Given the description of an element on the screen output the (x, y) to click on. 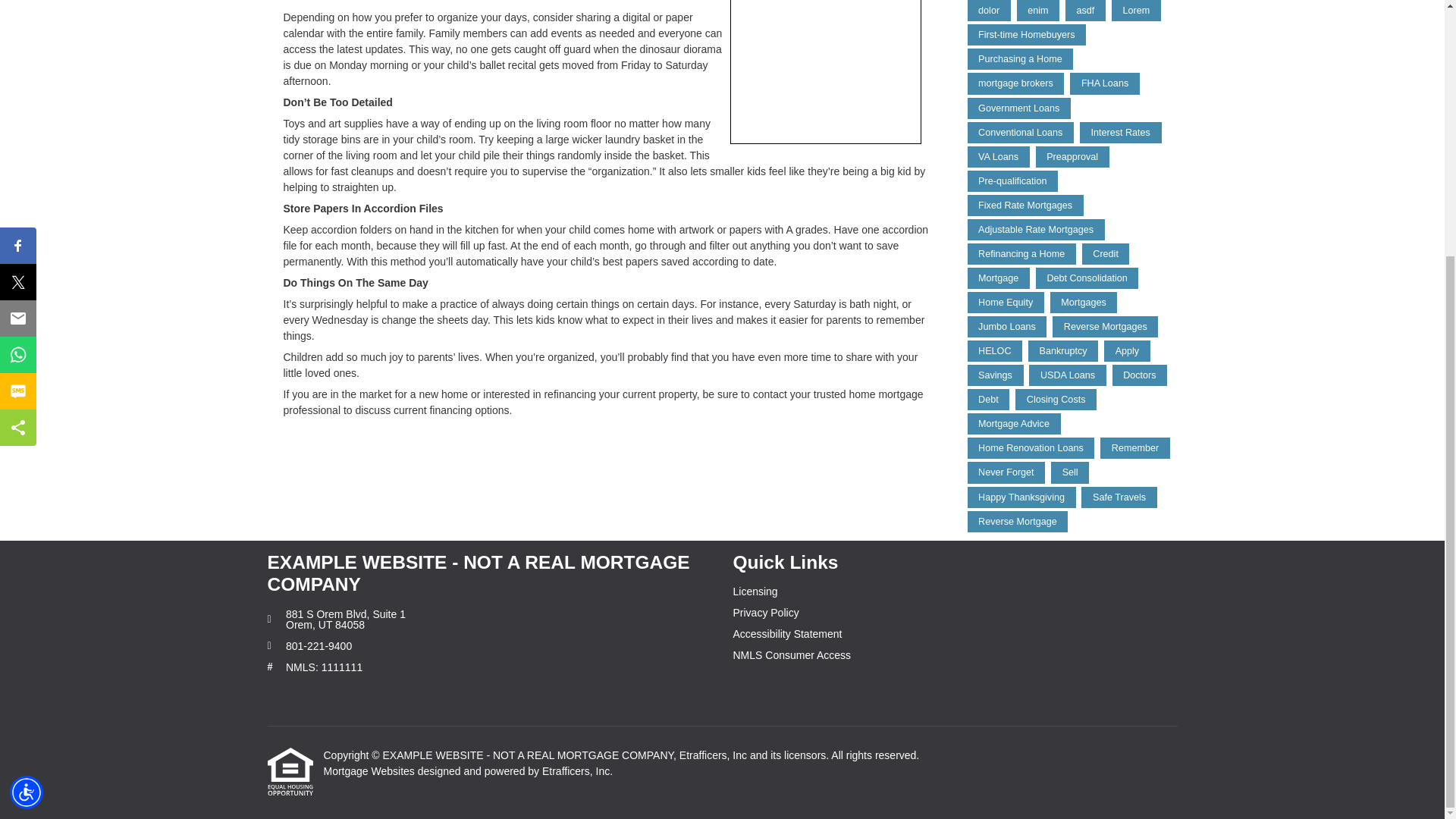
Accessibility Menu (26, 428)
